Given the description of an element on the screen output the (x, y) to click on. 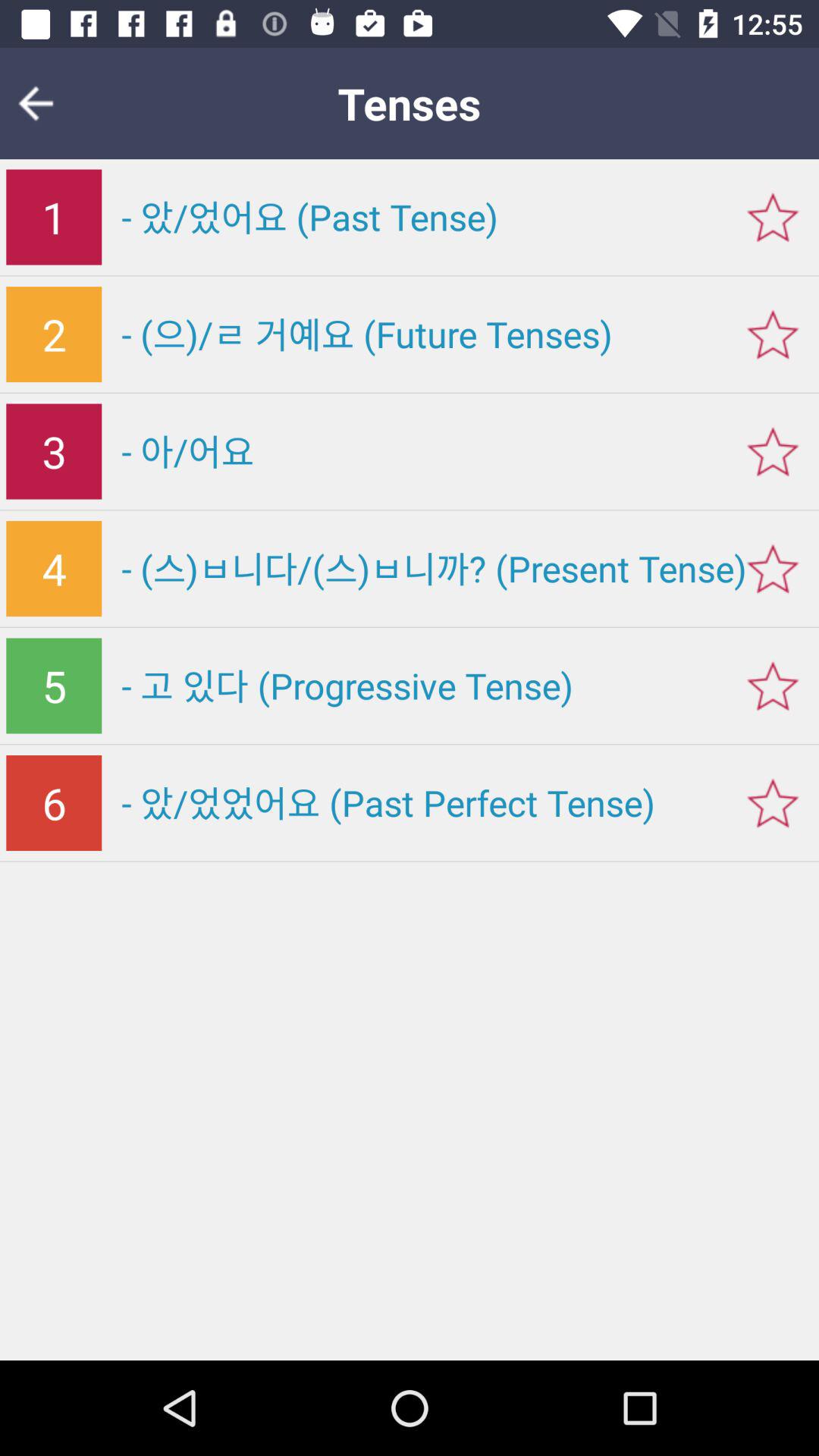
choose icon above the 2 item (53, 217)
